Given the description of an element on the screen output the (x, y) to click on. 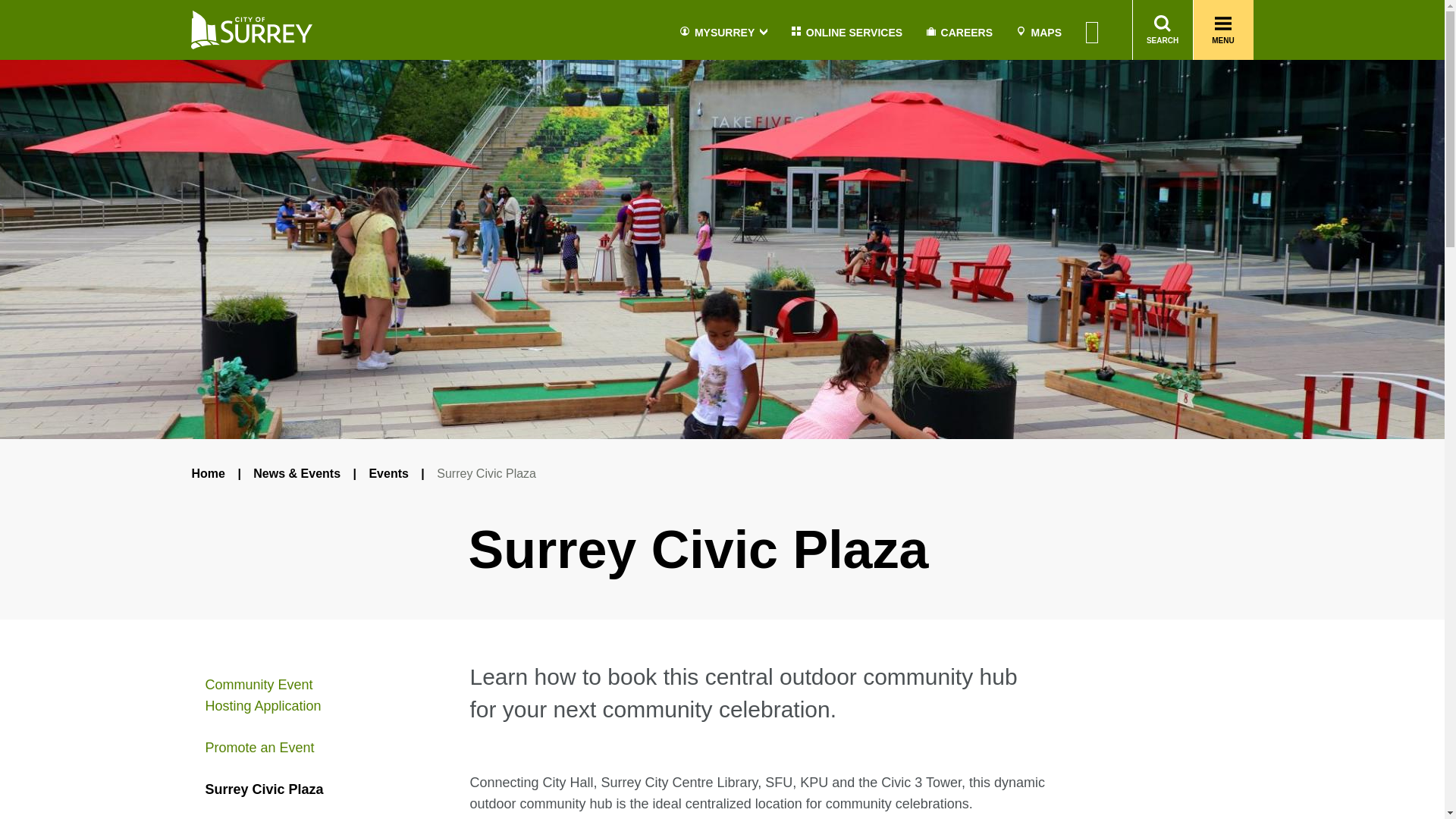
SEARCH (1162, 29)
MAPS (1038, 32)
CAREERS (959, 32)
search (1119, 144)
MENU (1223, 29)
MYSURREY (723, 32)
ONLINE SERVICES (847, 32)
